Given the description of an element on the screen output the (x, y) to click on. 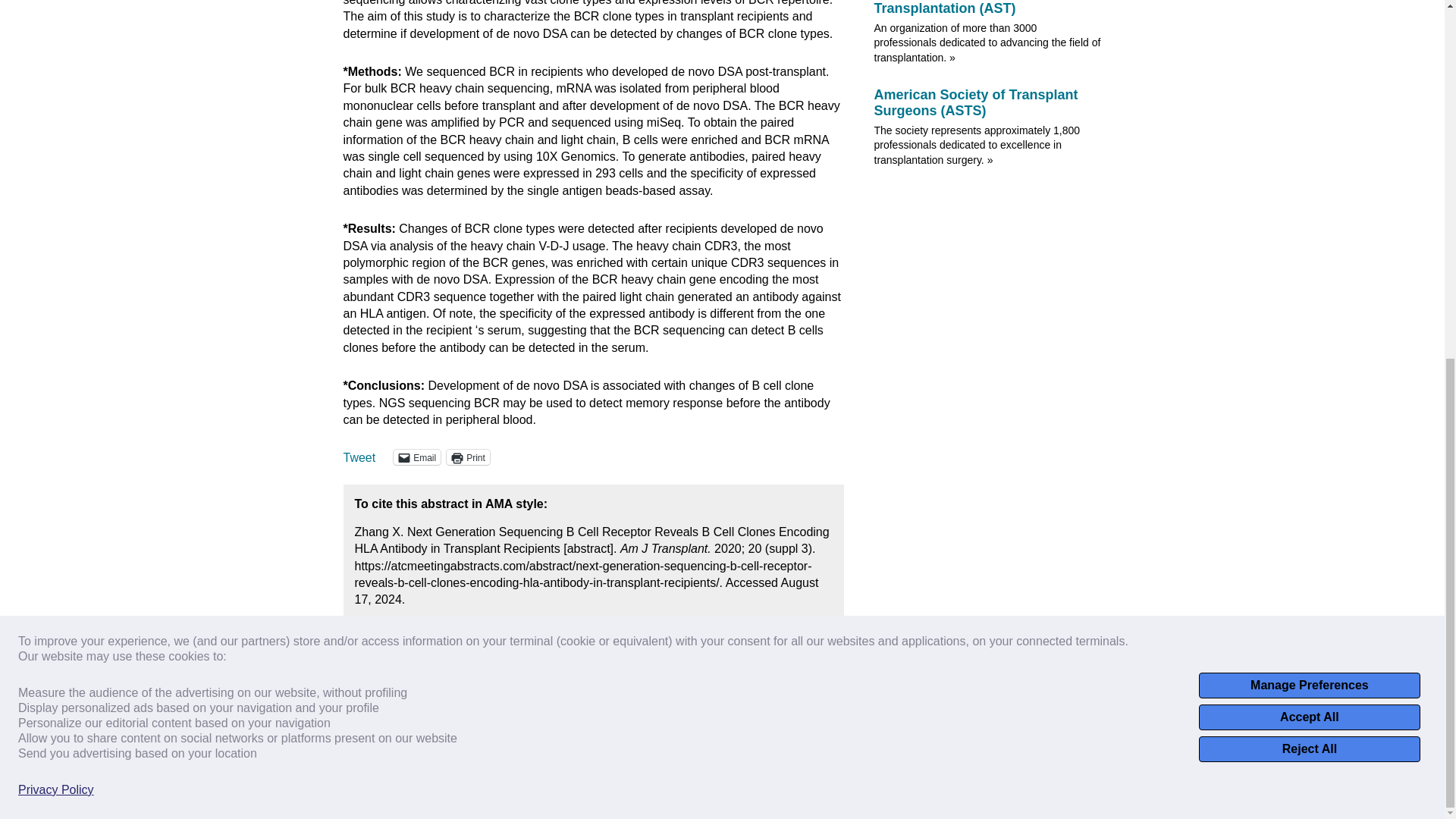
Reject All (1309, 116)
Manage Preferences (1309, 53)
Click to email a link to a friend (417, 457)
Click to print (467, 457)
Accept All (1309, 84)
3rd party ad content (986, 292)
Privacy Policy (55, 157)
